Given the description of an element on the screen output the (x, y) to click on. 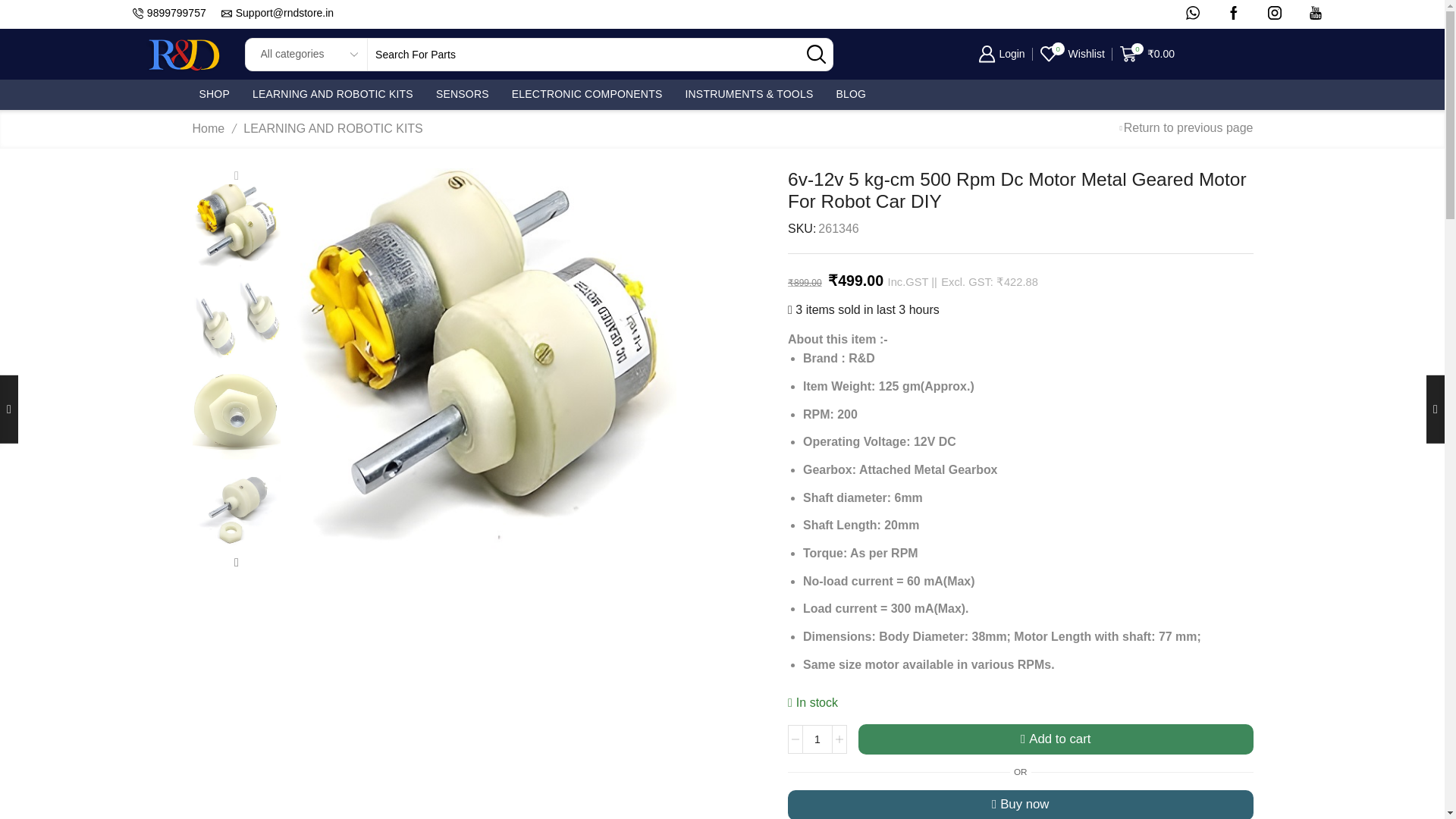
1 (817, 738)
Log in (1028, 300)
Login (1001, 53)
ELECTRONIC COMPONENTS (586, 94)
BLOG (850, 94)
SENSORS (462, 94)
LEARNING AND ROBOTIC KITS (332, 94)
SHOP (212, 94)
